Given the description of an element on the screen output the (x, y) to click on. 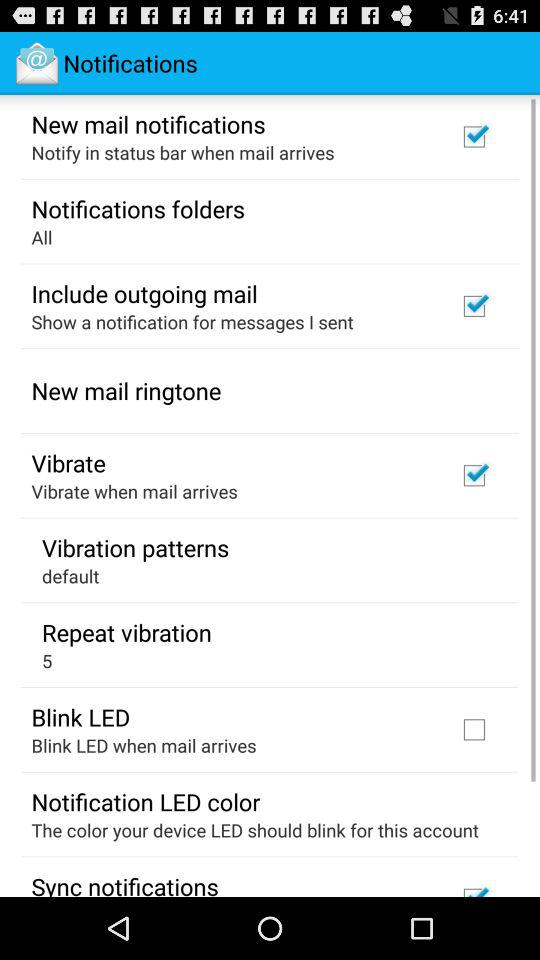
tap icon above default app (135, 547)
